Given the description of an element on the screen output the (x, y) to click on. 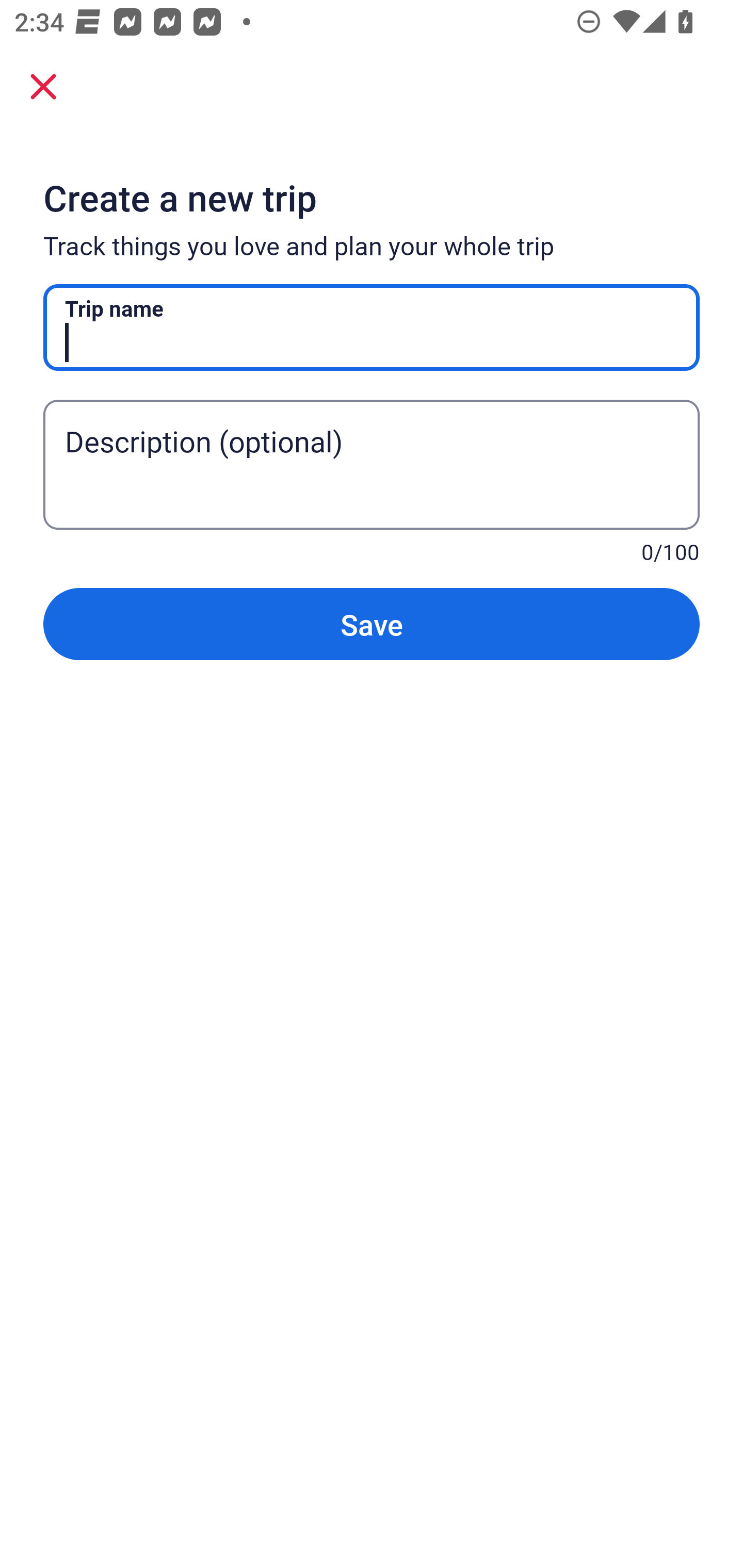
Close (43, 86)
Trip name (371, 327)
Save Button Save (371, 624)
